Given the description of an element on the screen output the (x, y) to click on. 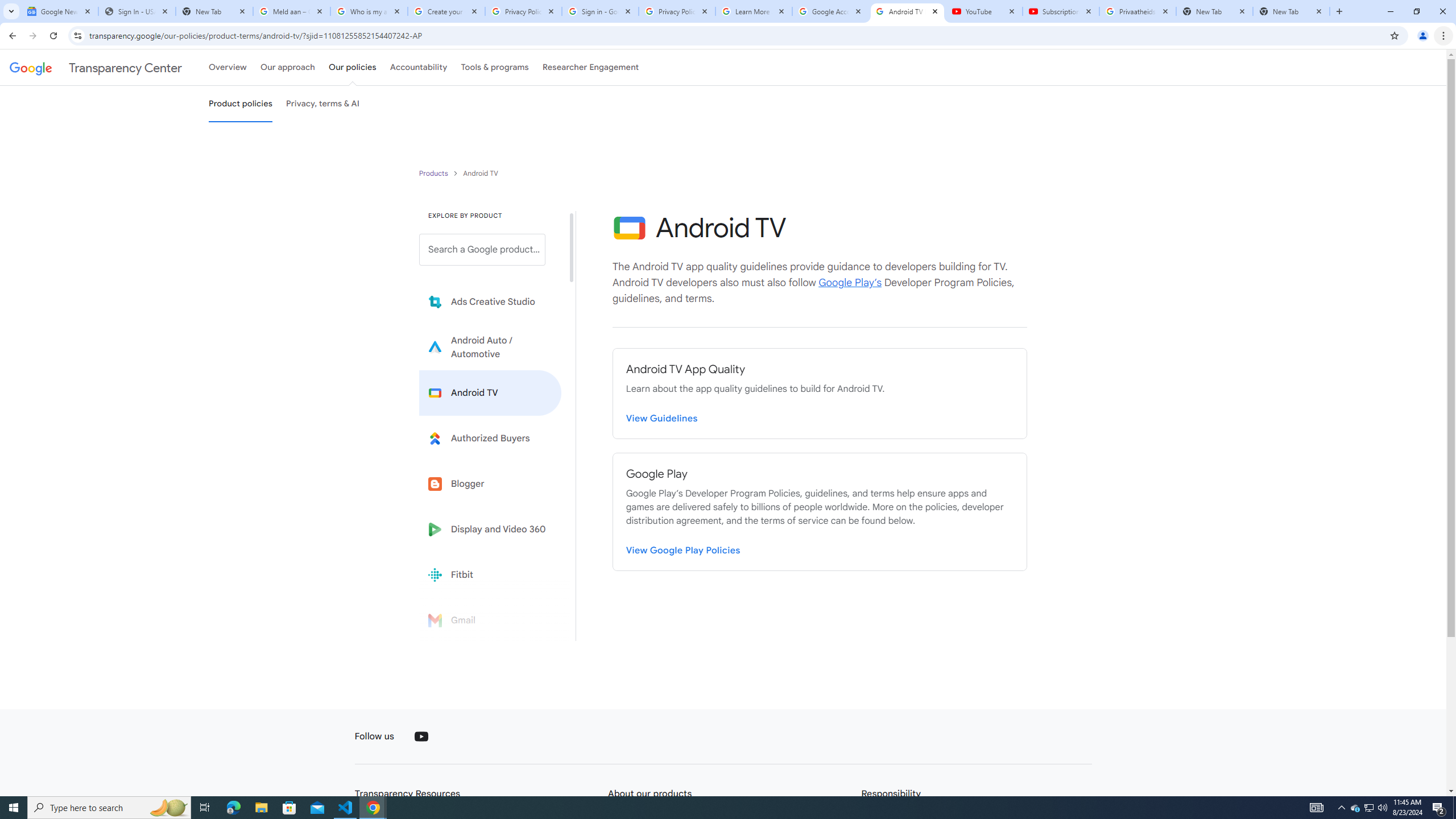
New Tab (1291, 11)
